Given the description of an element on the screen output the (x, y) to click on. 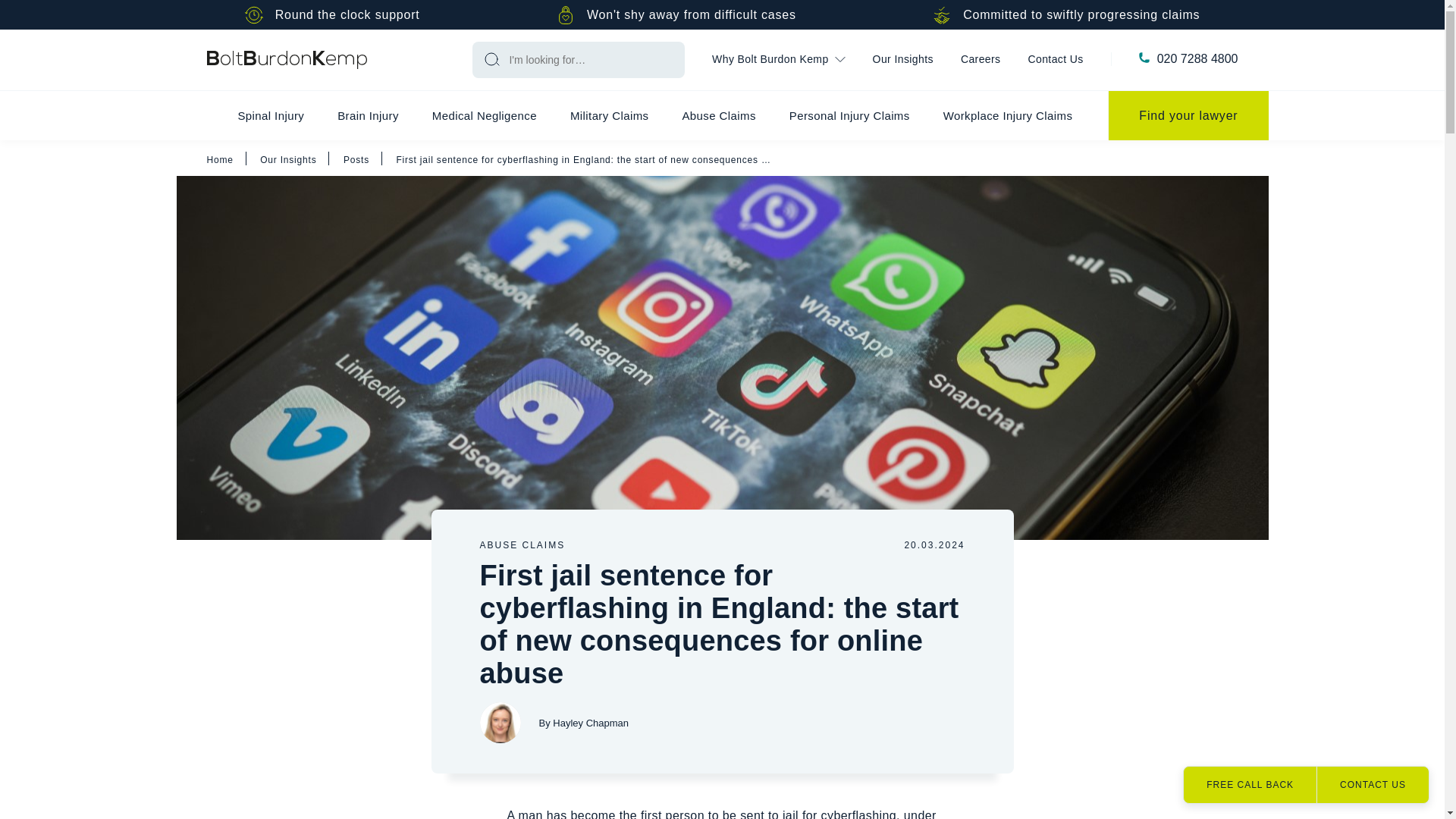
Contact Us (1055, 60)
Why Bolt Burdon Kemp (778, 60)
Home (286, 58)
Spinal Injury (270, 115)
020 7288 4800 (1198, 59)
Brain Injury (367, 115)
CONTACT US (1372, 784)
Our Insights (902, 60)
FREE CALL BACK (1249, 784)
Careers (980, 60)
